Given the description of an element on the screen output the (x, y) to click on. 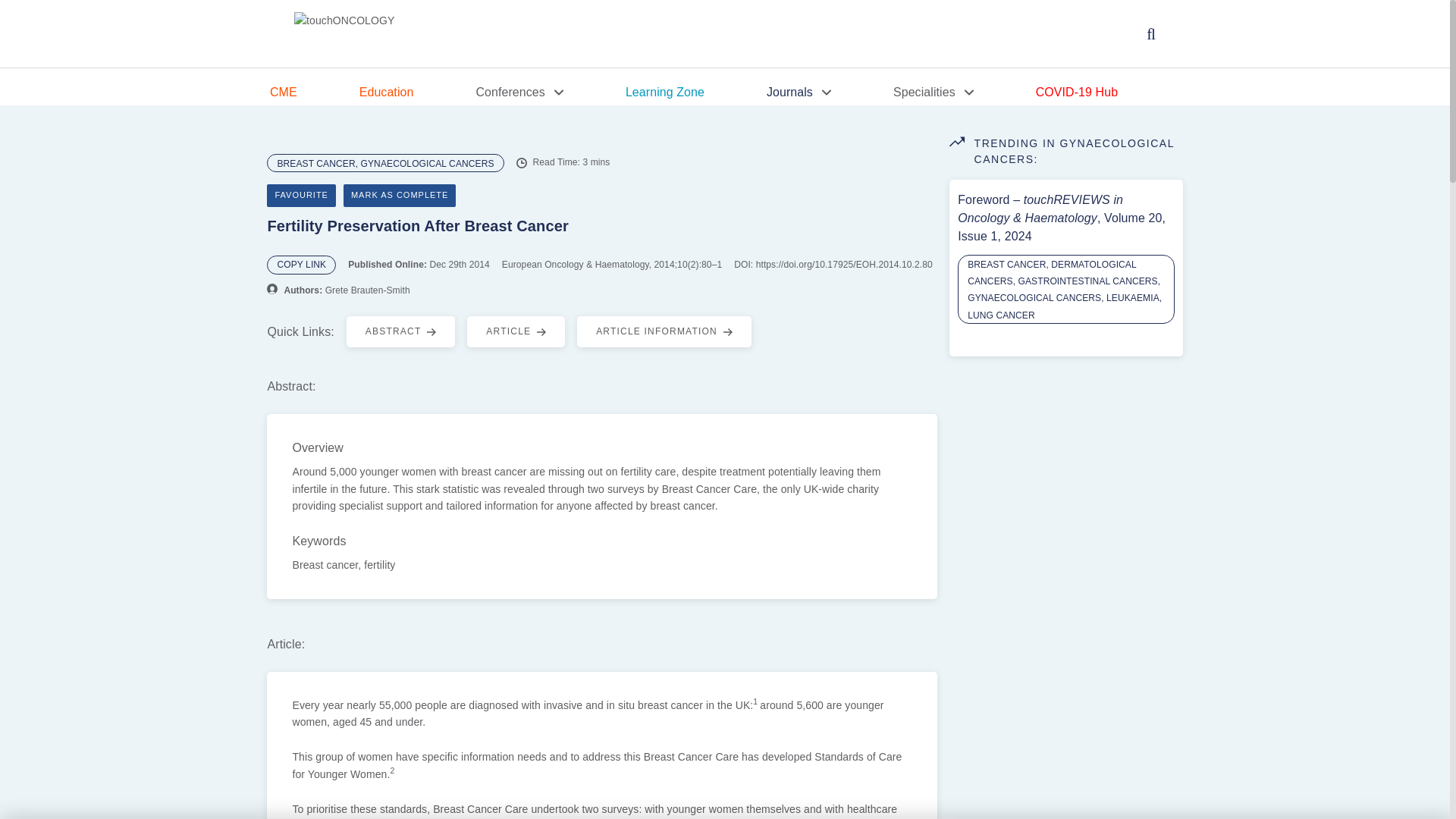
touchONCOLOGY (344, 34)
CME (314, 92)
Journals (830, 92)
Learning Zone (696, 92)
Education (417, 92)
Conferences (550, 92)
